Given the description of an element on the screen output the (x, y) to click on. 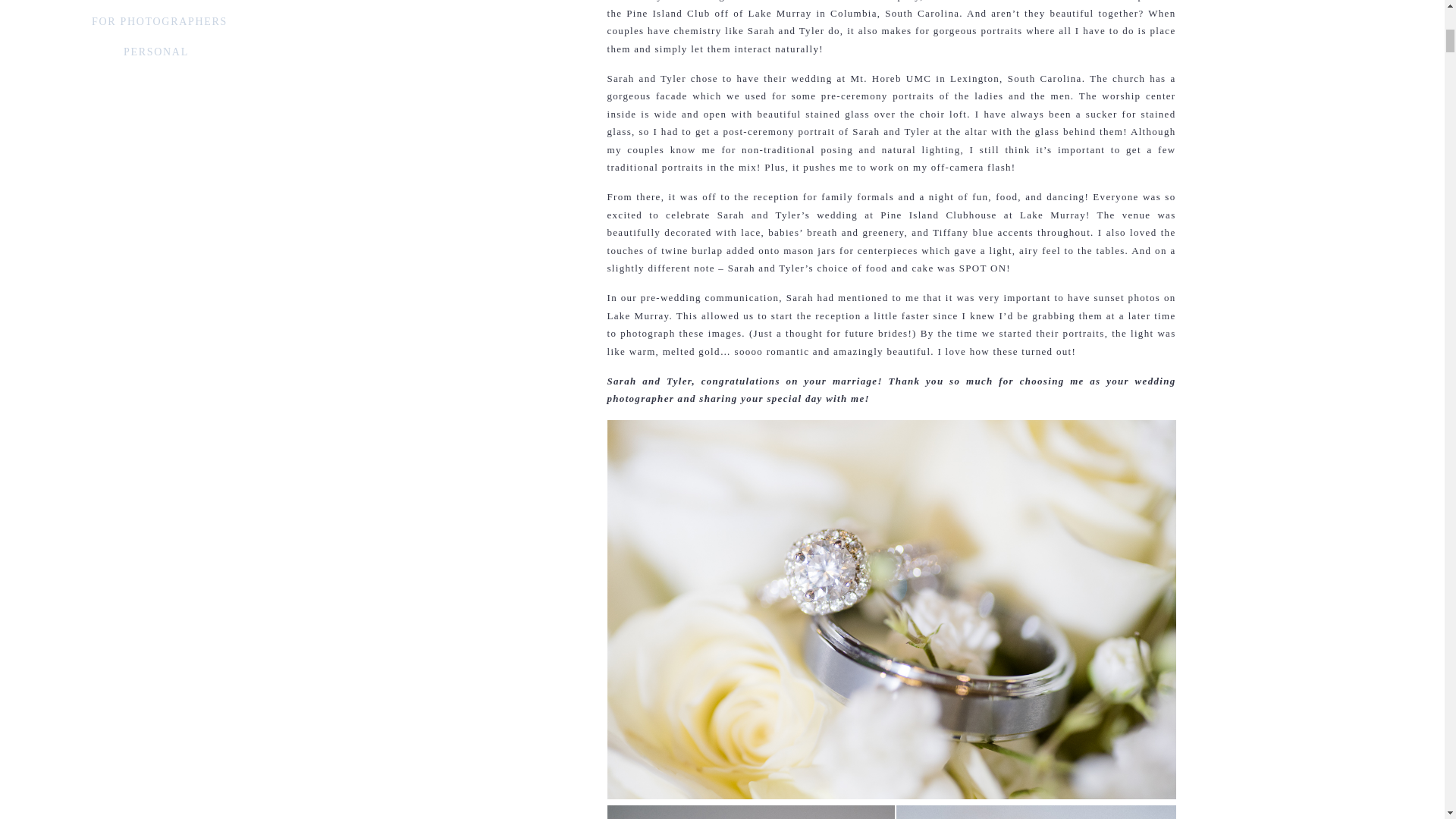
FOR PHOTOGRAPHERS (160, 21)
PERSONAL (155, 52)
